Given the description of an element on the screen output the (x, y) to click on. 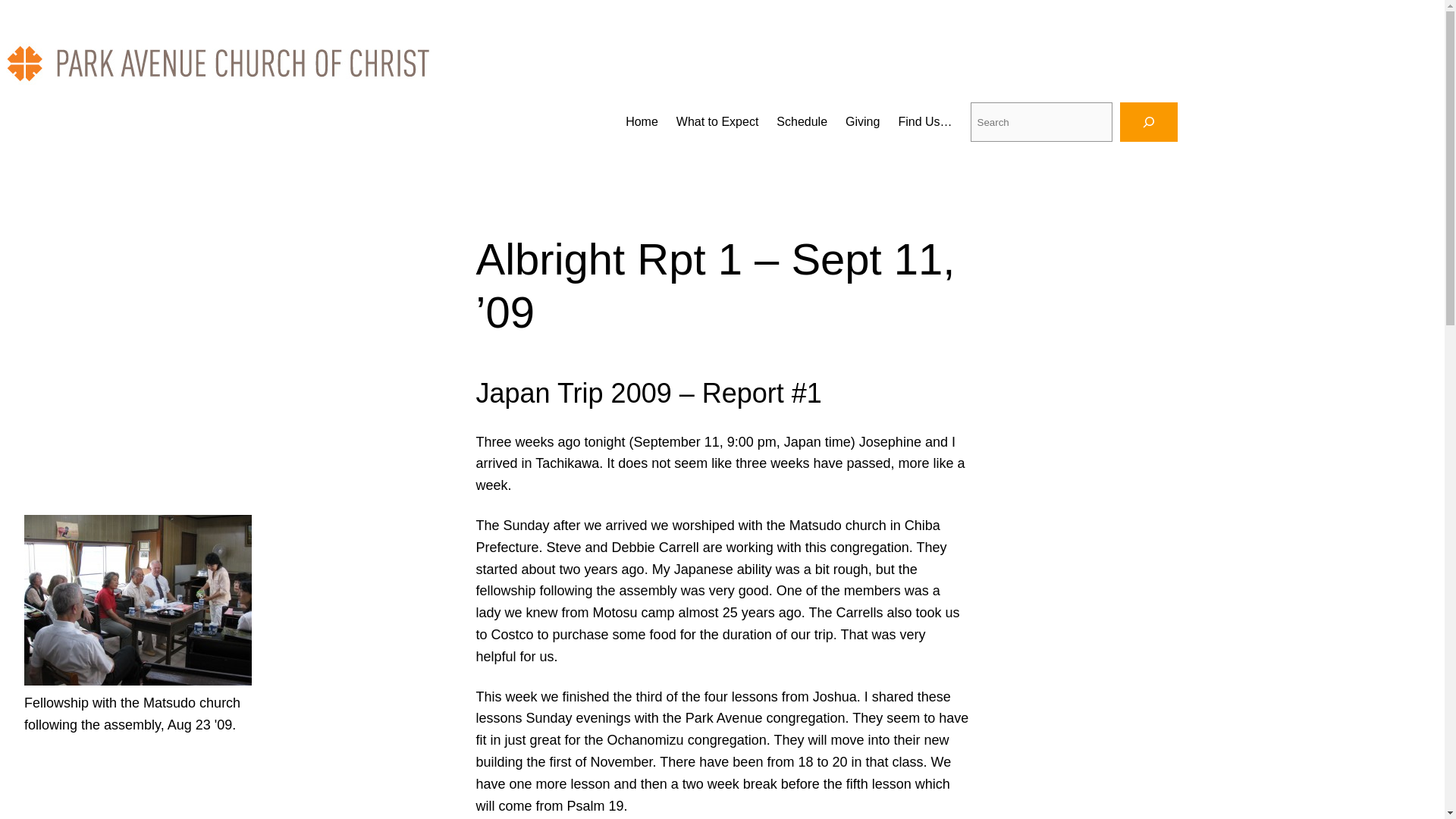
Convert this amount (730, 612)
Schedule (801, 121)
Giving (862, 121)
Home (642, 121)
What to Expect (717, 121)
